Given the description of an element on the screen output the (x, y) to click on. 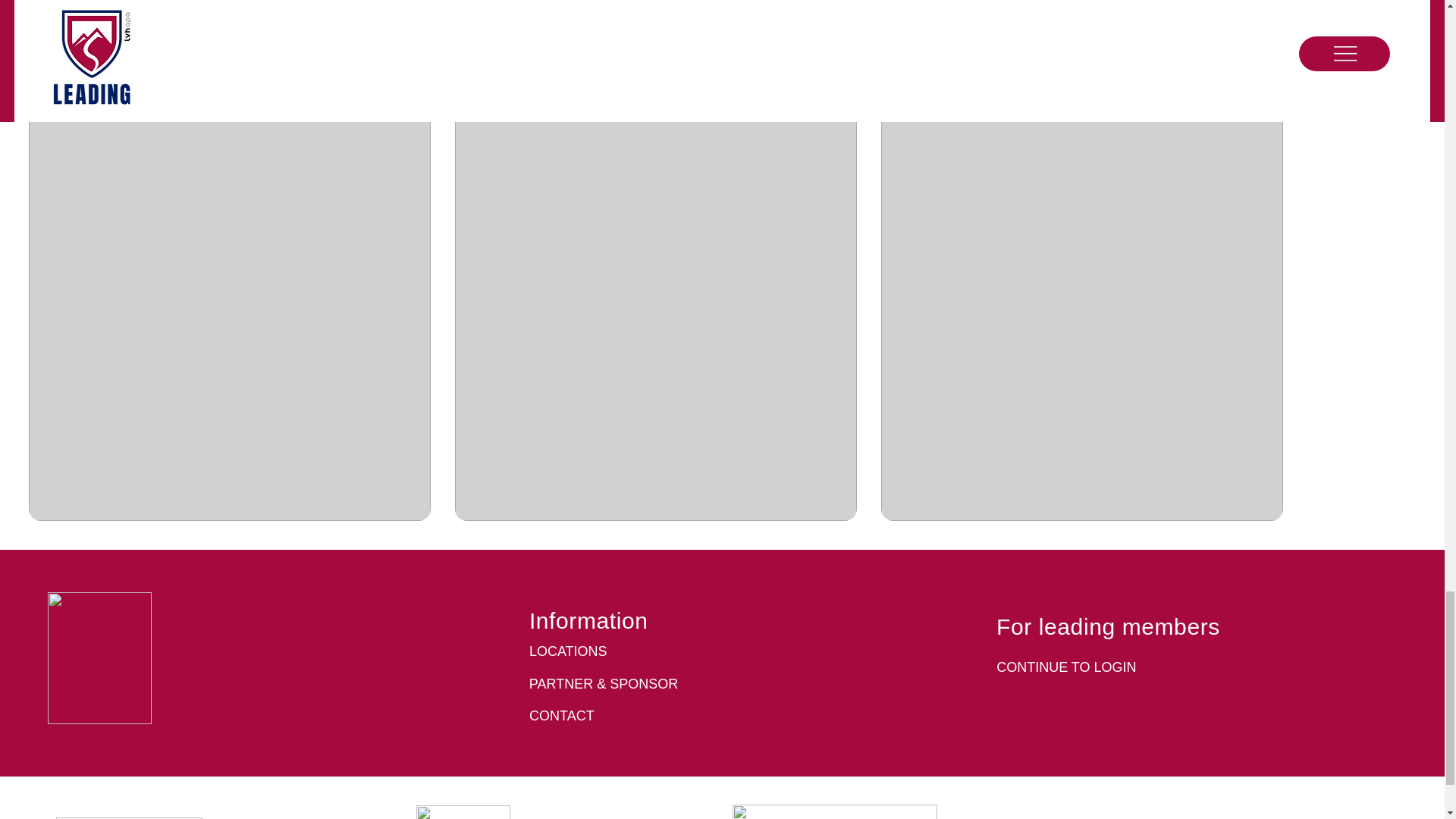
LOCATIONS (568, 651)
CONTINUE TO LOGIN (1065, 667)
CONTACT (561, 715)
